Given the description of an element on the screen output the (x, y) to click on. 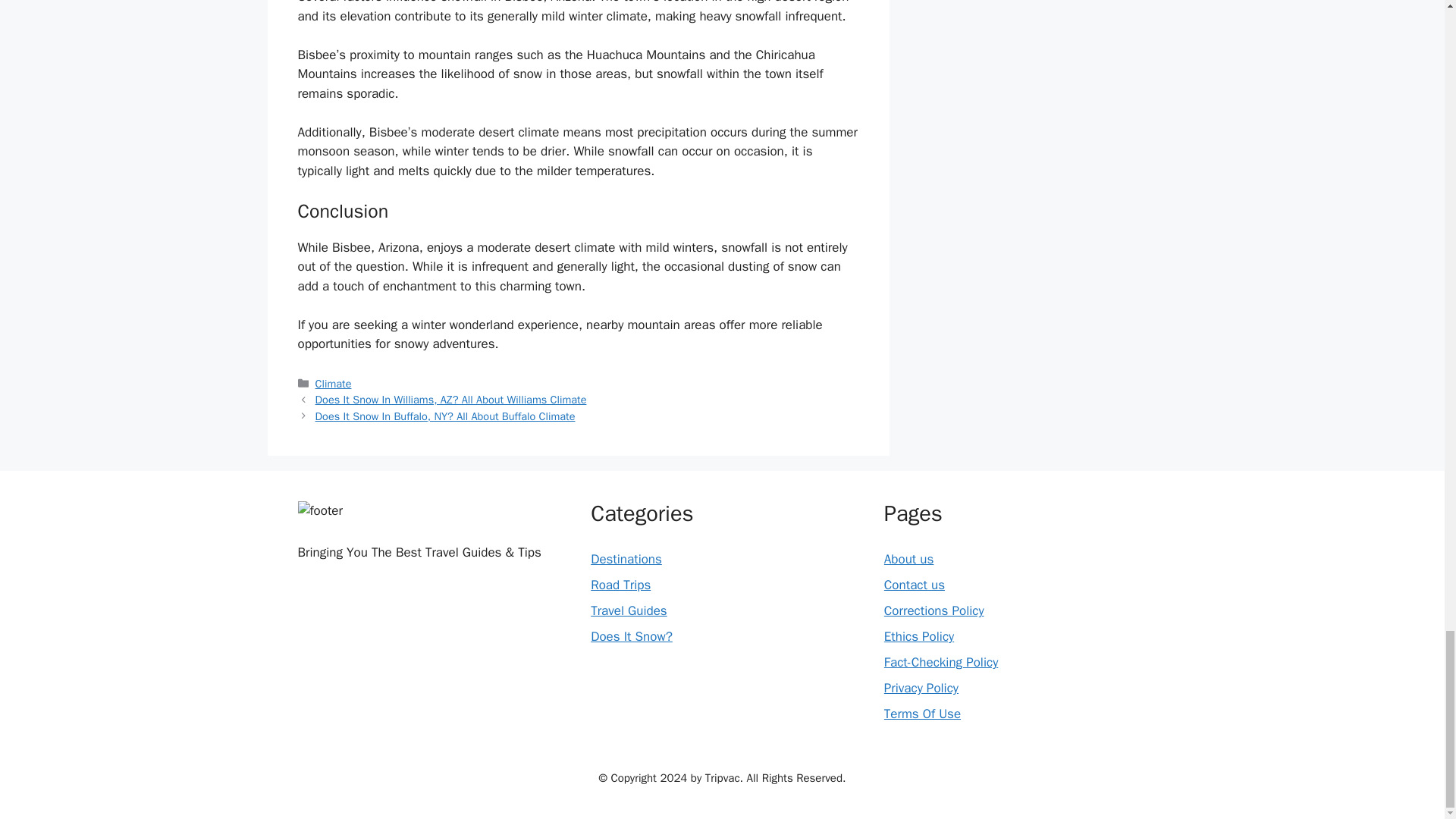
Does It Snow In Williams, AZ? All About Williams Climate (450, 399)
Climate (333, 383)
Does It Snow In Buffalo, NY? All About Buffalo Climate (445, 416)
